Given the description of an element on the screen output the (x, y) to click on. 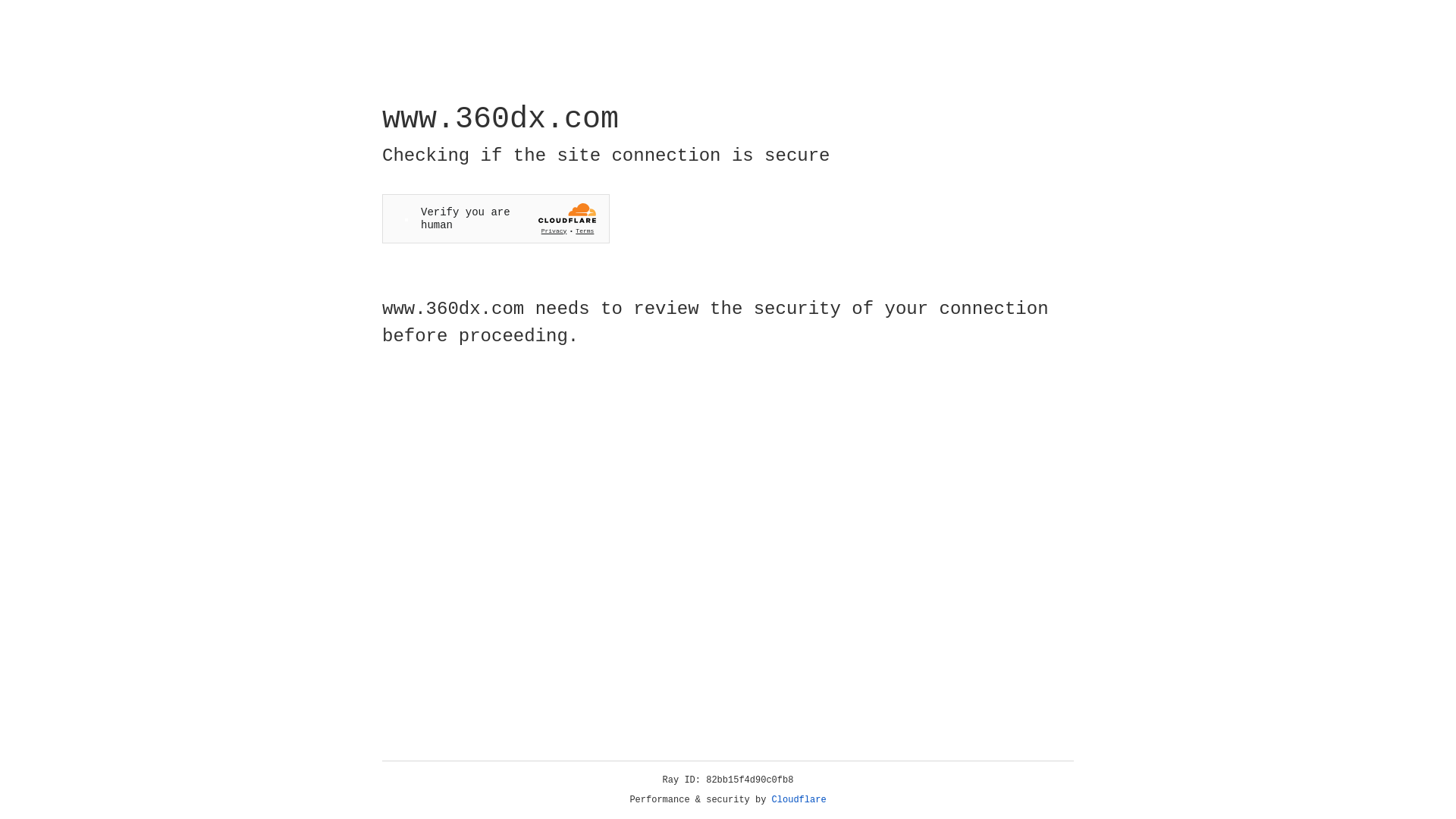
Cloudflare Element type: text (798, 799)
Widget containing a Cloudflare security challenge Element type: hover (495, 218)
